Given the description of an element on the screen output the (x, y) to click on. 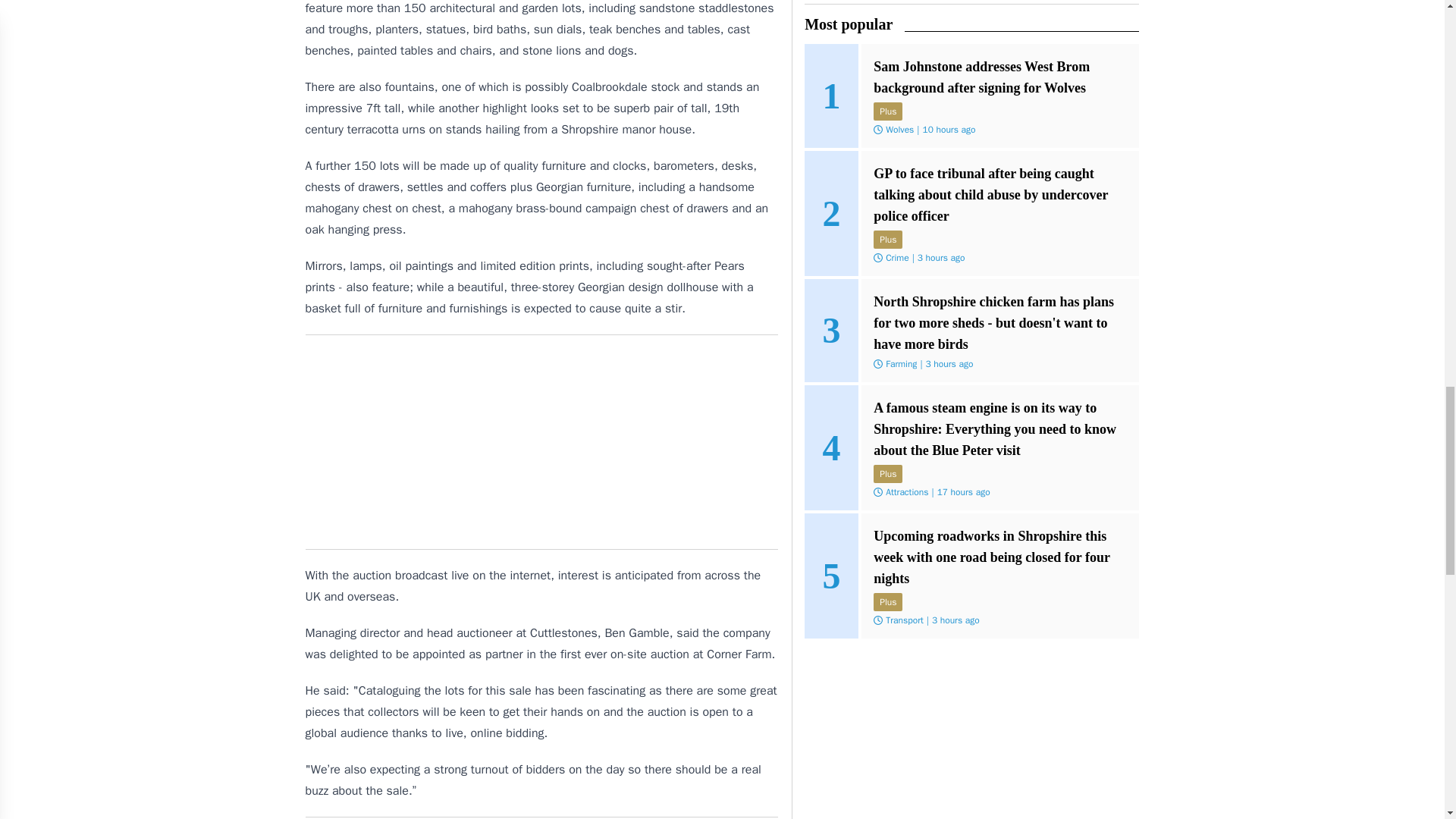
Wolves (899, 129)
Crime (896, 257)
Attractions (906, 491)
Transport (904, 620)
Farming (901, 363)
